Given the description of an element on the screen output the (x, y) to click on. 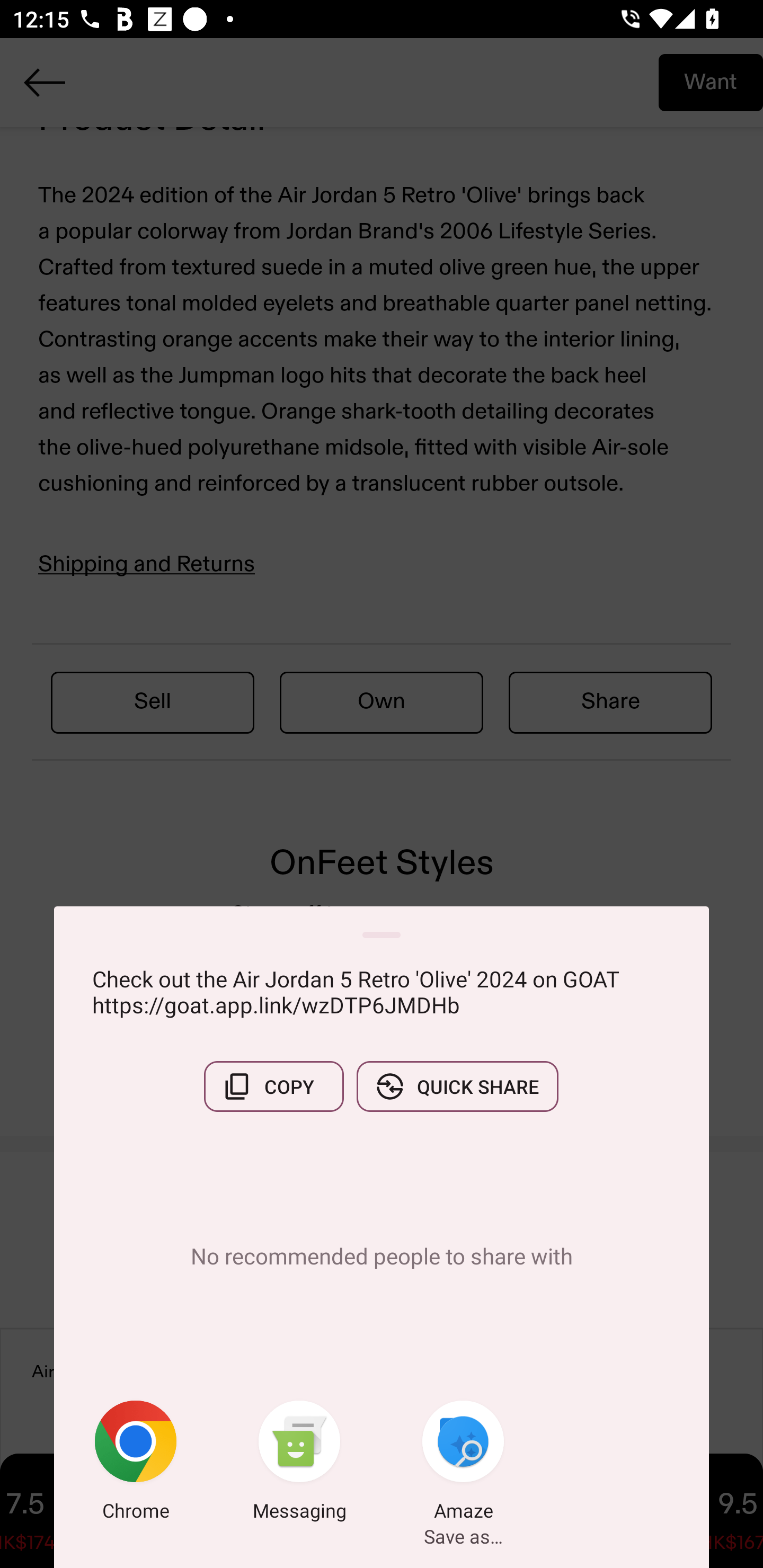
COPY (273, 1086)
QUICK SHARE (457, 1086)
Chrome (135, 1463)
Messaging (299, 1463)
Amaze Save as… (463, 1463)
